Given the description of an element on the screen output the (x, y) to click on. 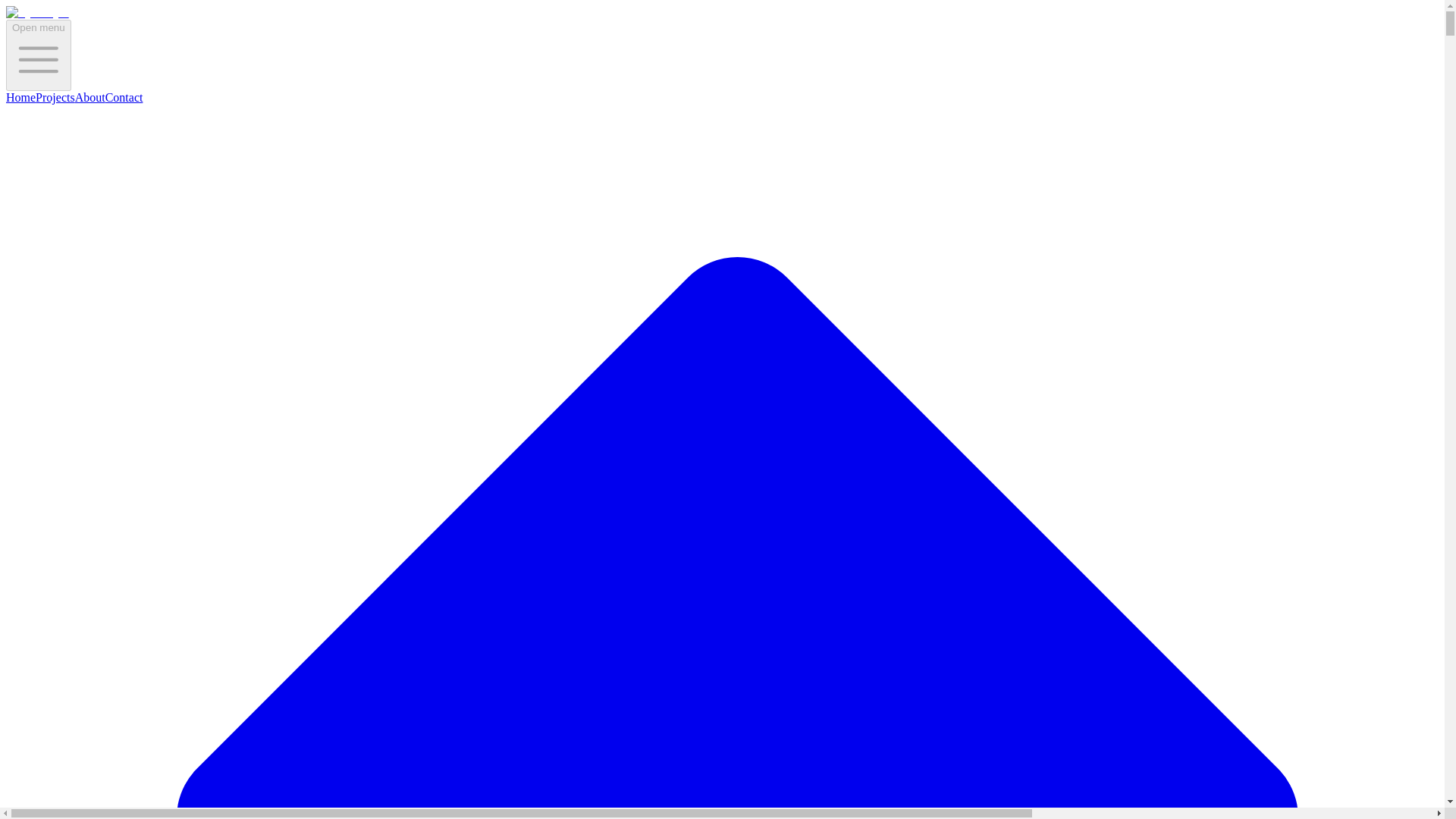
Contact (123, 97)
Home (19, 97)
Open menu (38, 54)
About (89, 97)
Projects (54, 97)
